Given the description of an element on the screen output the (x, y) to click on. 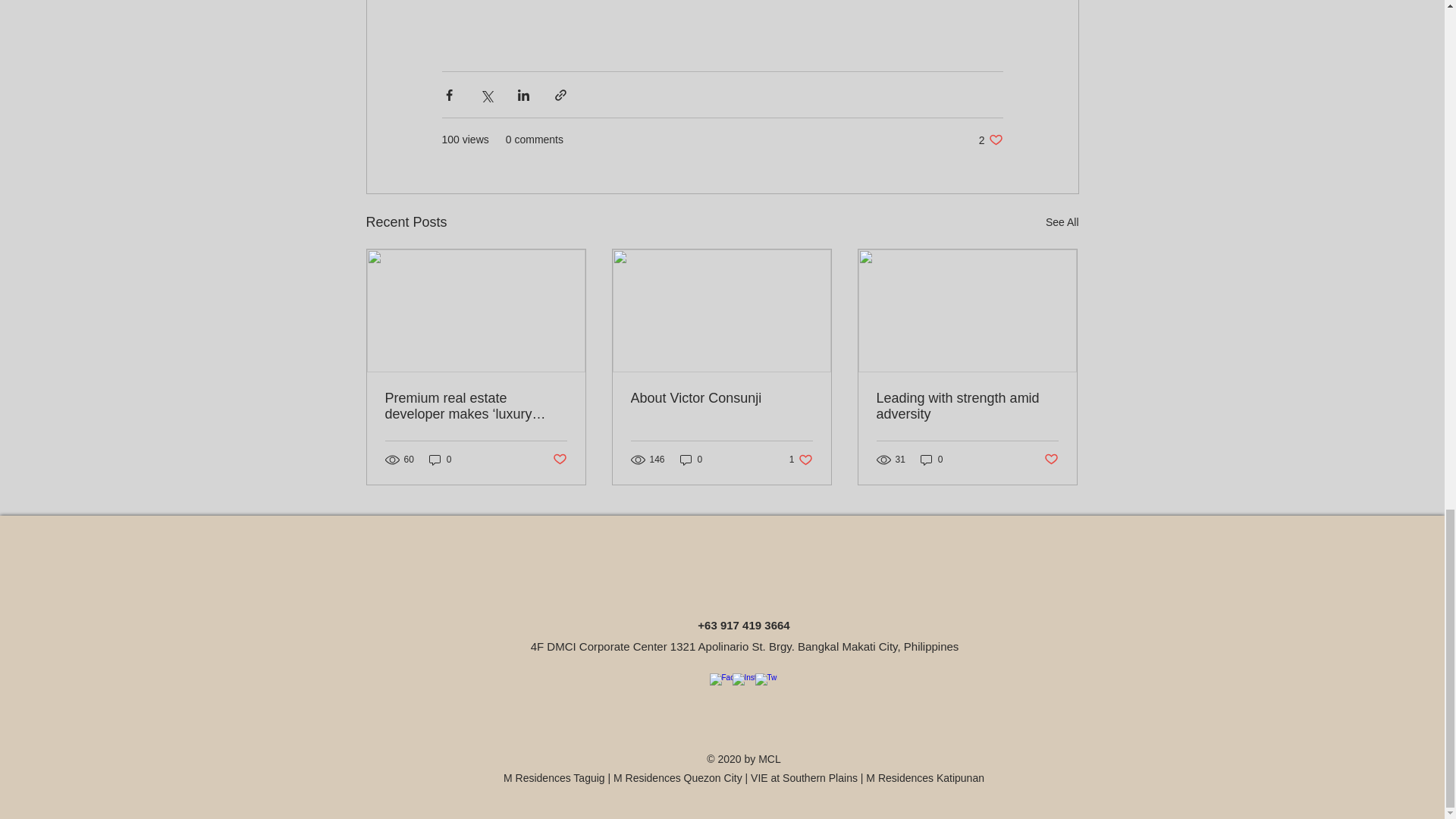
0 (931, 459)
Post not marked as liked (558, 459)
0 (440, 459)
About Victor Consunji (721, 398)
Leading with strength amid adversity (990, 139)
See All (967, 406)
Post not marked as liked (800, 459)
0 (1061, 222)
